Given the description of an element on the screen output the (x, y) to click on. 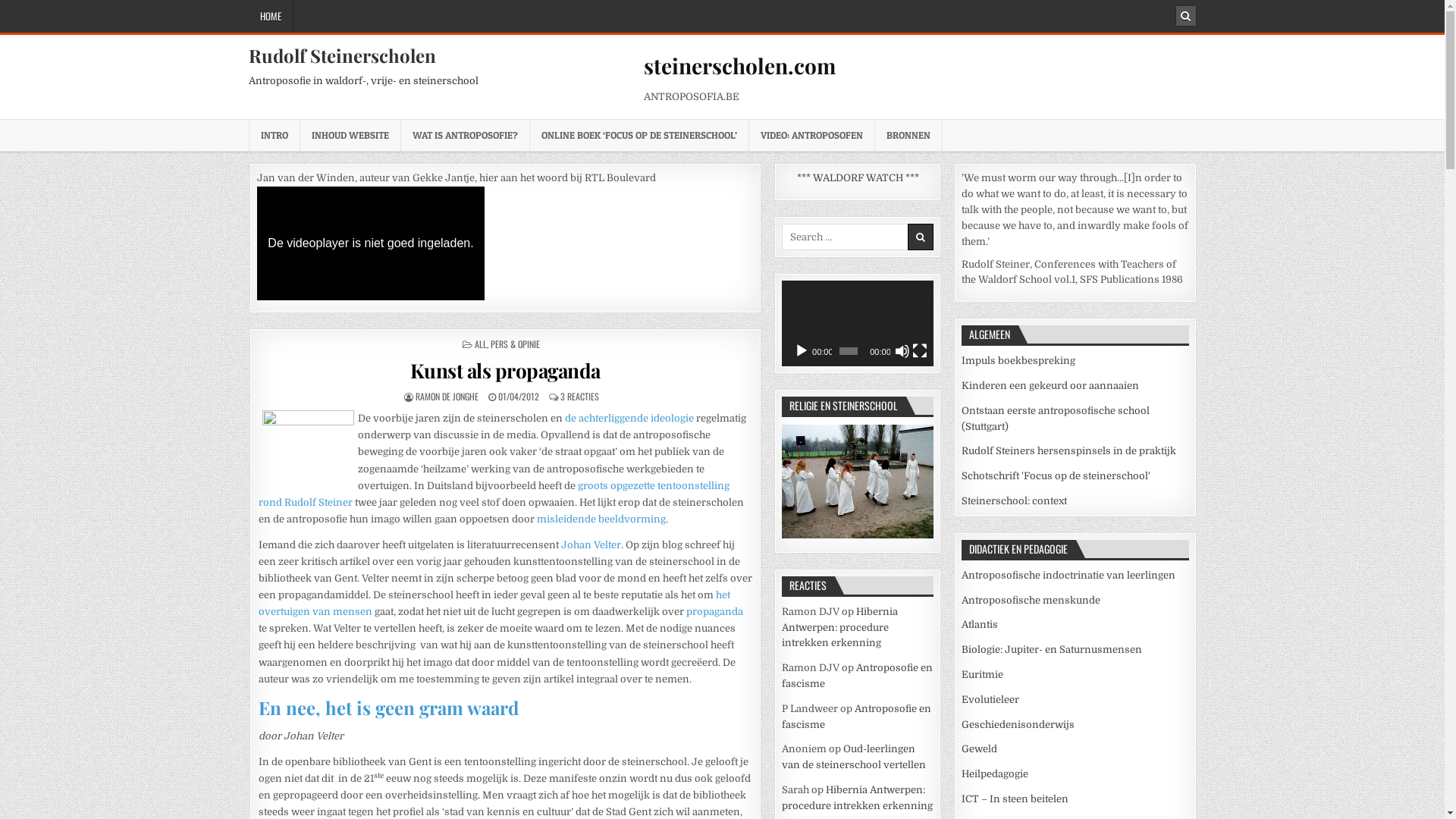
misleidende beeldvorming Element type: text (600, 518)
Hibernia Antwerpen: procedure intrekken erkenning Element type: text (839, 627)
Heilpedagogie Element type: text (994, 773)
steiner_2 Element type: hover (308, 444)
Geweld Element type: text (979, 748)
Oud-leerlingen van de steinerschool vertellen Element type: text (853, 756)
Antroposofie en fascisme Element type: text (856, 675)
Biologie: Jupiter- en Saturnusmensen Element type: text (1051, 649)
En nee, het is geen gram waard Element type: text (388, 707)
WAT IS ANTROPOSOFIE? Element type: text (464, 134)
Ontstaan eerste antroposofische school (Stuttgart) Element type: text (1055, 418)
Euritmie Element type: text (982, 674)
propaganda Element type: text (714, 611)
3 REACTIES
OP KUNST ALS PROPAGANDA Element type: text (579, 395)
schoolfeest Element type: hover (857, 481)
Kunst als propaganda Element type: text (505, 370)
AUTHOR:
RAMON DE JONGHE Element type: text (446, 395)
Search Element type: hover (1185, 15)
Volledig scherm Element type: hover (919, 350)
groots opgezette tentoonstelling rond Rudolf Steiner Element type: text (493, 494)
Impuls boekbespreking Element type: text (1018, 360)
HOME Element type: text (270, 16)
Geschiedenisonderwijs Element type: text (1017, 724)
Schotschrift 'Focus op de steinerschool' Element type: text (1055, 475)
Johan Velter Element type: text (591, 544)
*** WALDORF WATCH *** Element type: text (857, 178)
Antroposofie en fascisme Element type: text (856, 716)
Evolutieleer Element type: text (990, 699)
Atlantis Element type: text (979, 624)
BRONNEN Element type: text (908, 134)
Rudolf Steiners hersenspinsels in de praktijk Element type: text (1068, 450)
Antroposofische menskunde Element type: text (1030, 599)
Antroposofische indoctrinatie van leerlingen Element type: text (1068, 574)
INHOUD WEBSITE Element type: text (350, 134)
INTRO Element type: text (274, 134)
de achterliggende ideologie Element type: text (628, 417)
Rudolf Steinerscholen Element type: text (342, 55)
Hibernia Antwerpen: procedure intrekken erkenning Element type: text (856, 797)
het overtuigen van mensen Element type: text (494, 603)
Kinderen een gekeurd oor aannaaien Element type: text (1050, 385)
ALL Element type: text (480, 343)
Afspelen Element type: hover (801, 350)
Dempen Element type: hover (902, 350)
Steinerschool: context Element type: text (1013, 500)
VIDEO: ANTROPOSOFEN Element type: text (812, 134)
PERS & OPINIE Element type: text (514, 343)
